Given the description of an element on the screen output the (x, y) to click on. 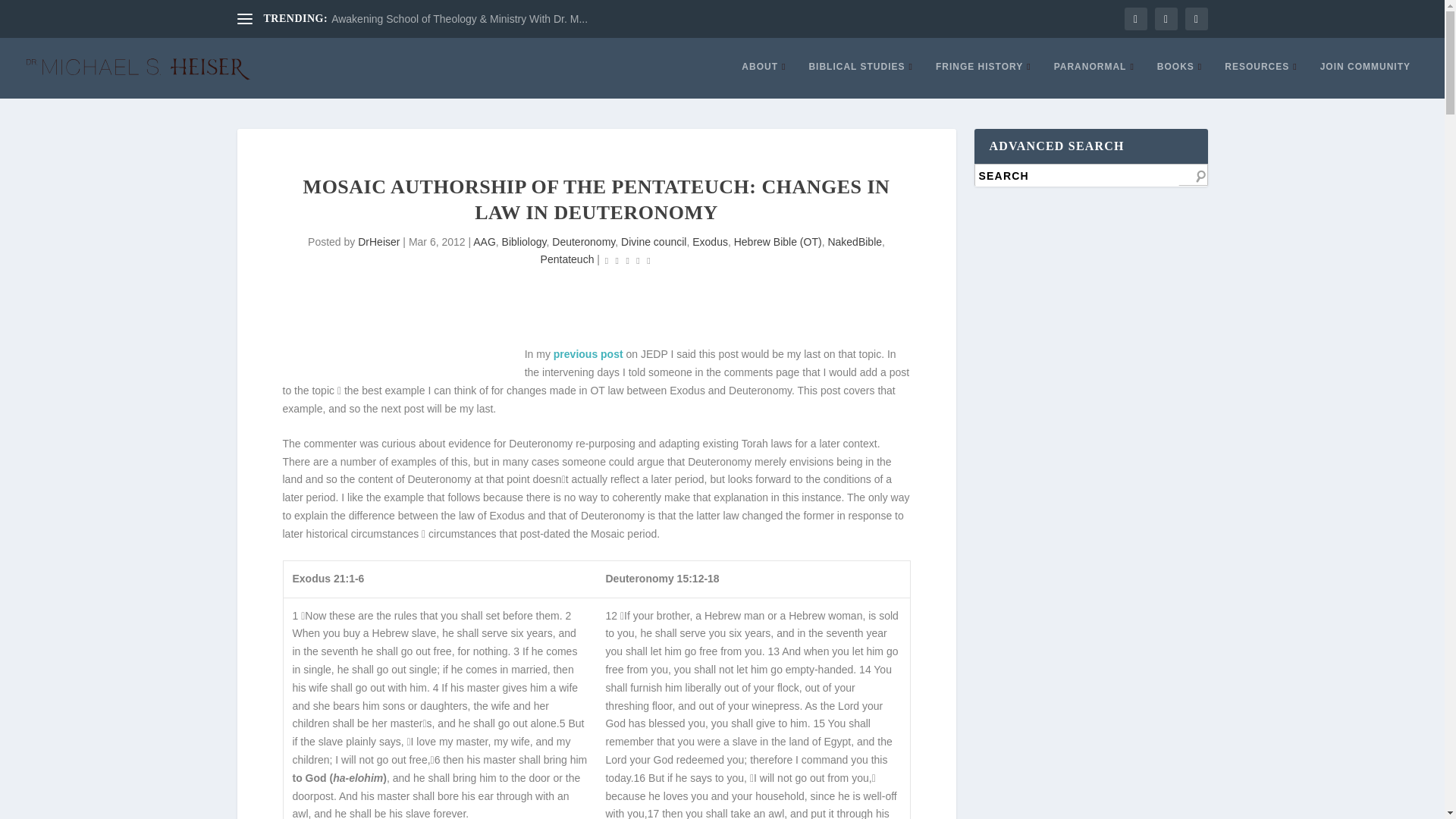
FRINGE HISTORY (983, 79)
ABOUT (763, 79)
RESOURCES (1260, 79)
Rating: 0.00 (627, 260)
Posts by DrHeiser (378, 241)
BOOKS (1179, 79)
BIBLICAL STUDIES (860, 79)
PARANORMAL (1094, 79)
